Given the description of an element on the screen output the (x, y) to click on. 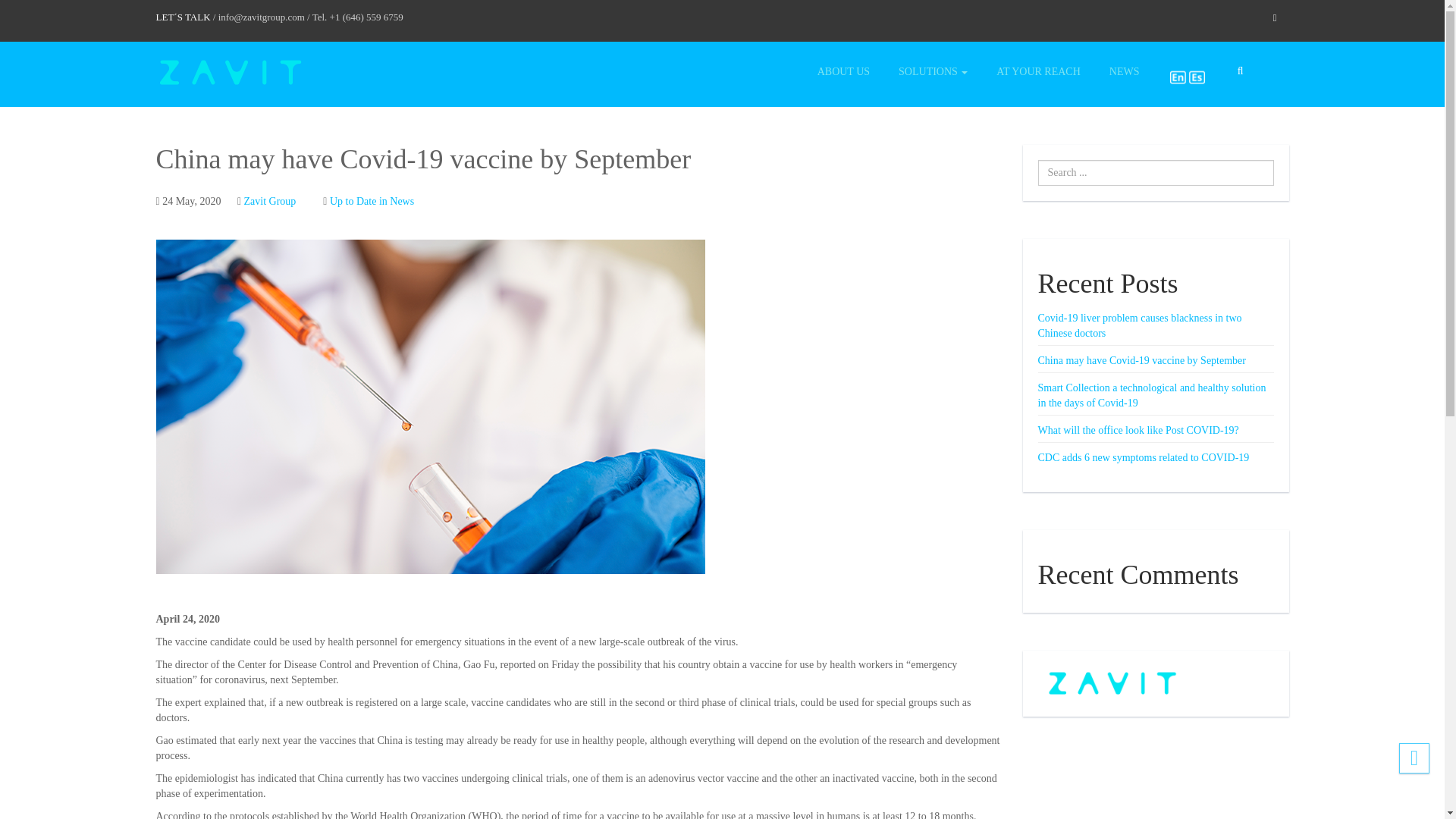
SOLUTIONS (933, 71)
ABOUT US (843, 71)
About Us (843, 71)
Zavit Group (270, 201)
At Your Reach (1037, 71)
Logo (229, 72)
AT YOUR REACH (1037, 71)
Solutions (933, 71)
Up to Date in News (371, 201)
